Given the description of an element on the screen output the (x, y) to click on. 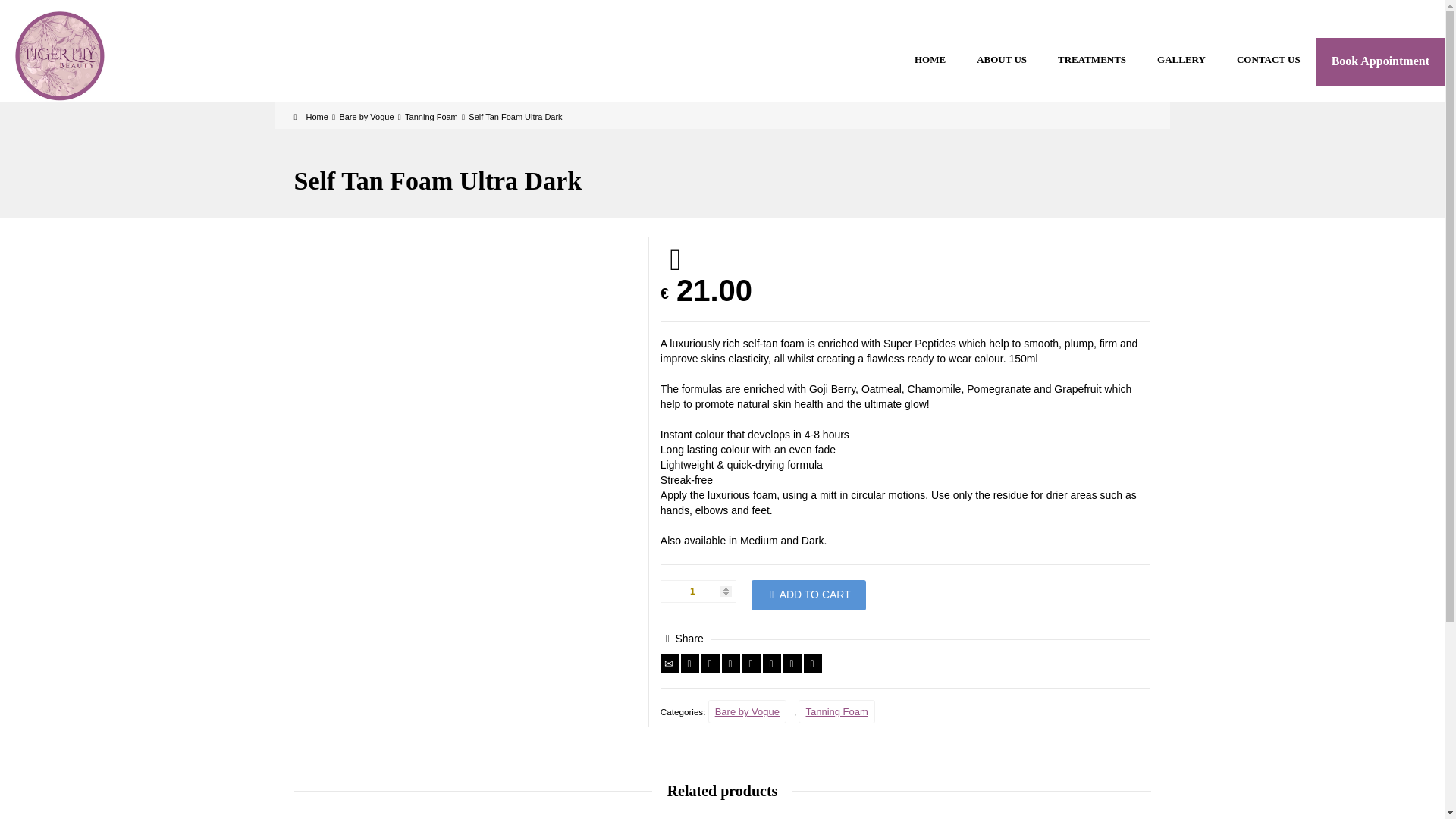
Tanning Foam (431, 116)
Bare by Vogue (366, 116)
Bare by Vogue (746, 711)
1 (698, 590)
Home (311, 116)
TREATMENTS (1091, 59)
CONTACT US (1268, 59)
ADD TO CART (808, 594)
Twitter (689, 663)
Facebook (710, 663)
